Given the description of an element on the screen output the (x, y) to click on. 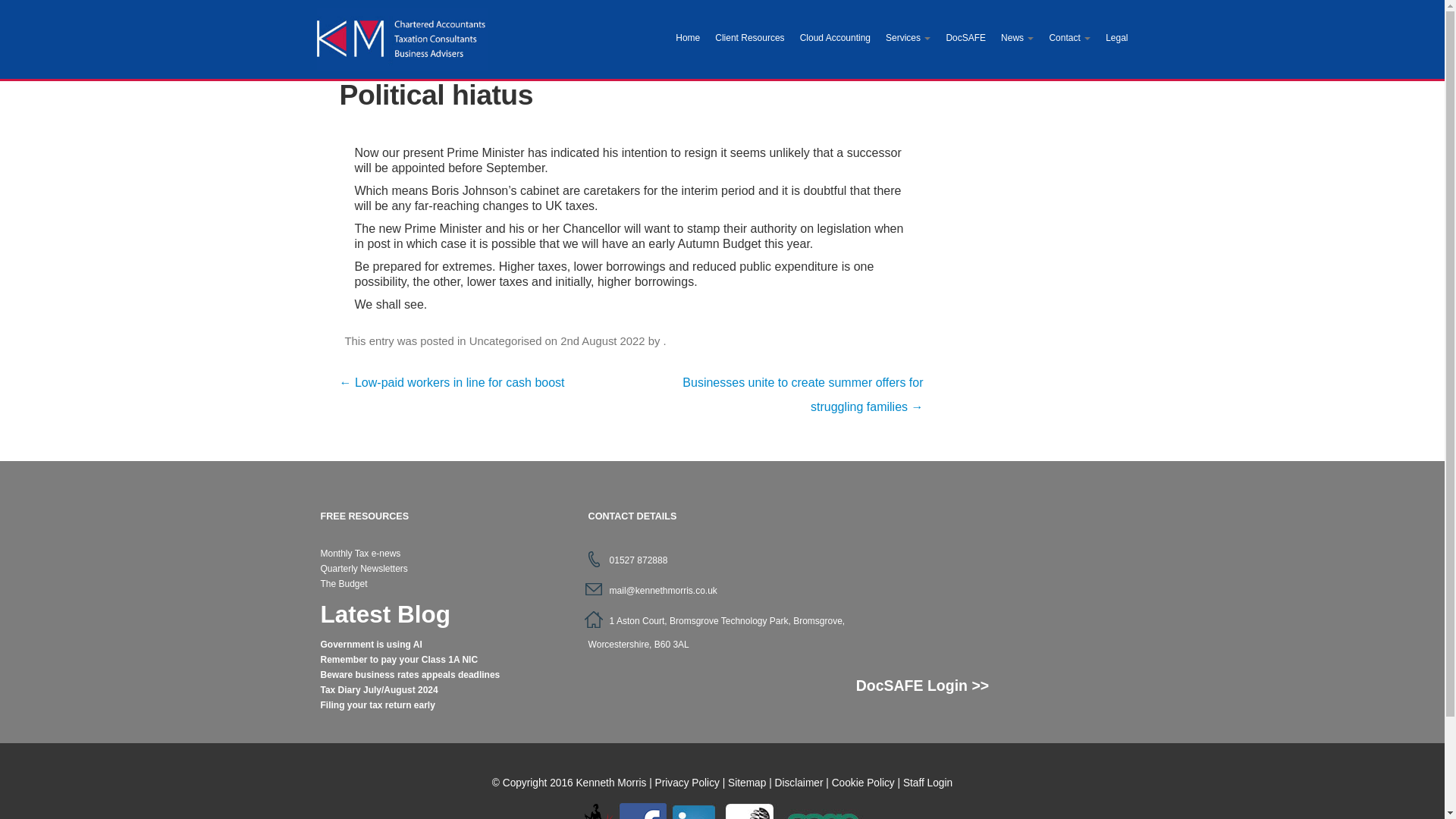
Home (687, 38)
DocSAFE (964, 38)
Cloud Accounting (834, 38)
Contact (1069, 38)
2nd August 2022 (602, 340)
Remember to pay your Class 1A NIC (398, 659)
Skip to content (546, 7)
Monthly Tax e-news (360, 552)
Sitemap (746, 782)
Services (907, 38)
Filing your tax return early (376, 705)
News (1016, 38)
Uncategorised (504, 340)
Disclaimer (799, 782)
Client Resources (749, 38)
